Given the description of an element on the screen output the (x, y) to click on. 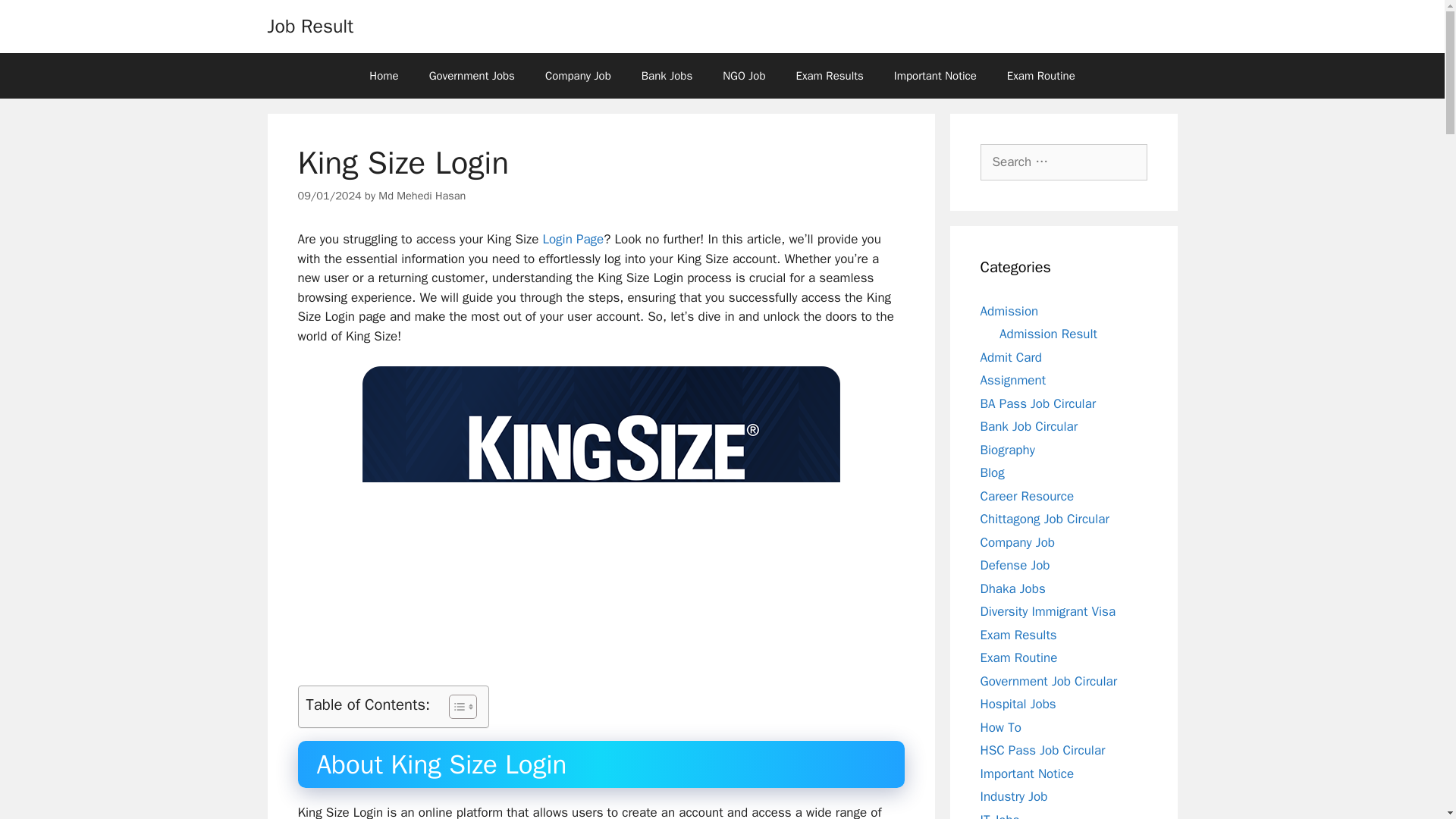
View all posts by Md Mehedi Hasan (421, 195)
Company Job (577, 75)
Government Jobs (471, 75)
Job Result (309, 25)
Exam Routine (1040, 75)
Home (383, 75)
Login Page (572, 238)
Bank Jobs (666, 75)
Md Mehedi Hasan (421, 195)
Important Notice (935, 75)
